Given the description of an element on the screen output the (x, y) to click on. 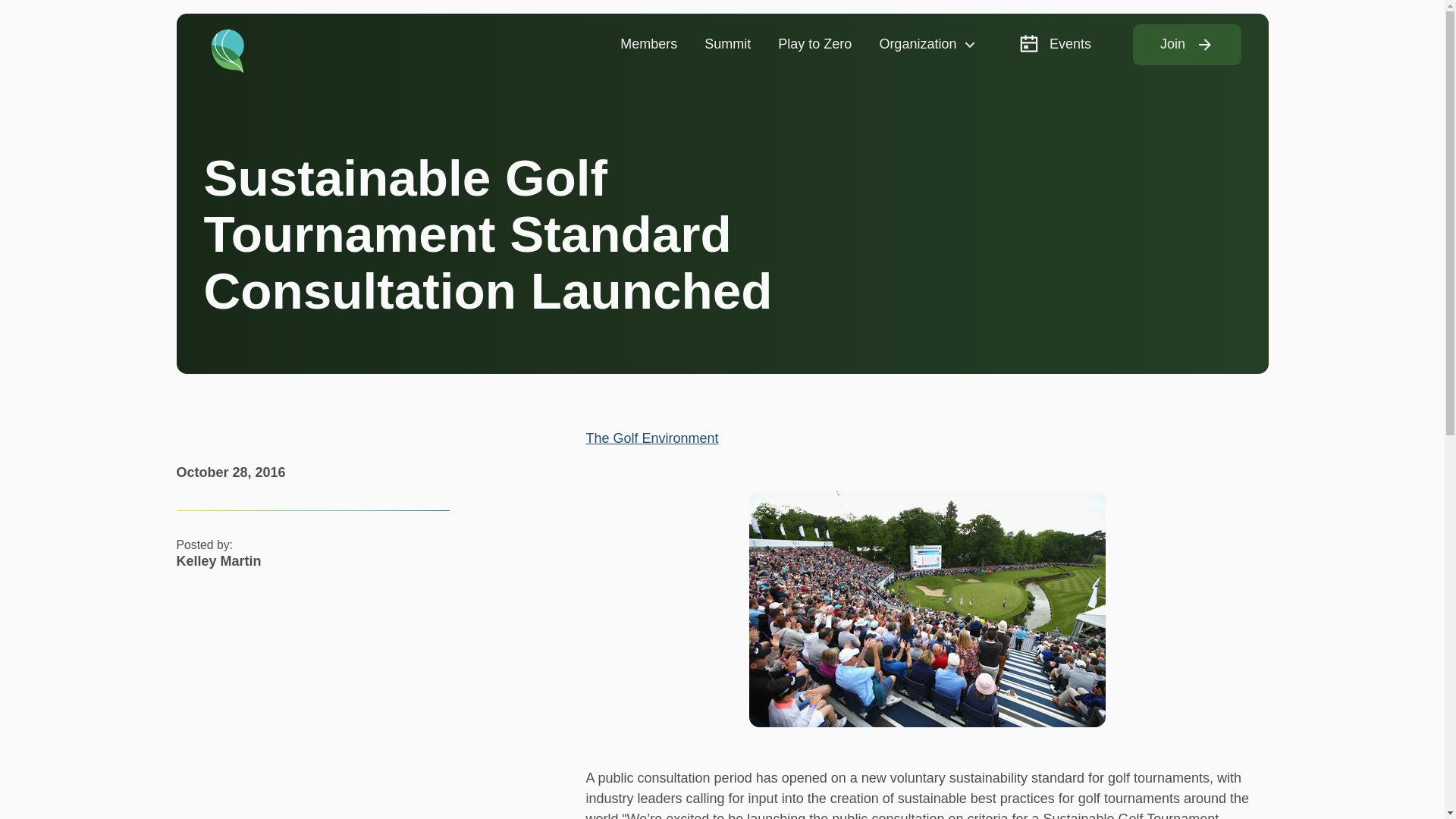
Events (1054, 43)
Members (648, 44)
Play to Zero (814, 44)
Summit (727, 44)
Join (1186, 44)
The Golf Environment (651, 437)
